Given the description of an element on the screen output the (x, y) to click on. 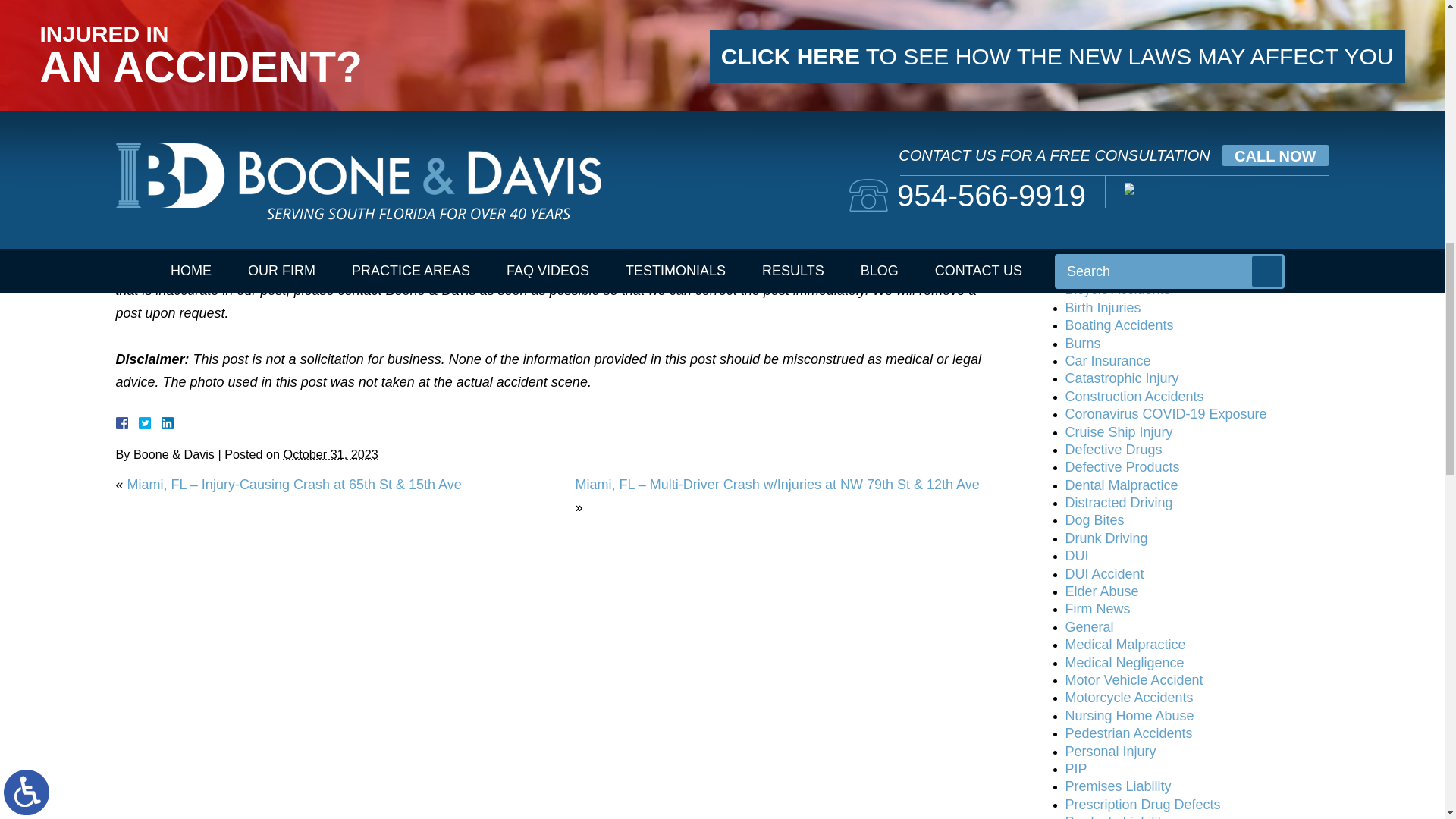
Twitter (149, 422)
LinkedIn (160, 422)
2023-10-31T18:56:35-0700 (330, 454)
Facebook (139, 422)
